Given the description of an element on the screen output the (x, y) to click on. 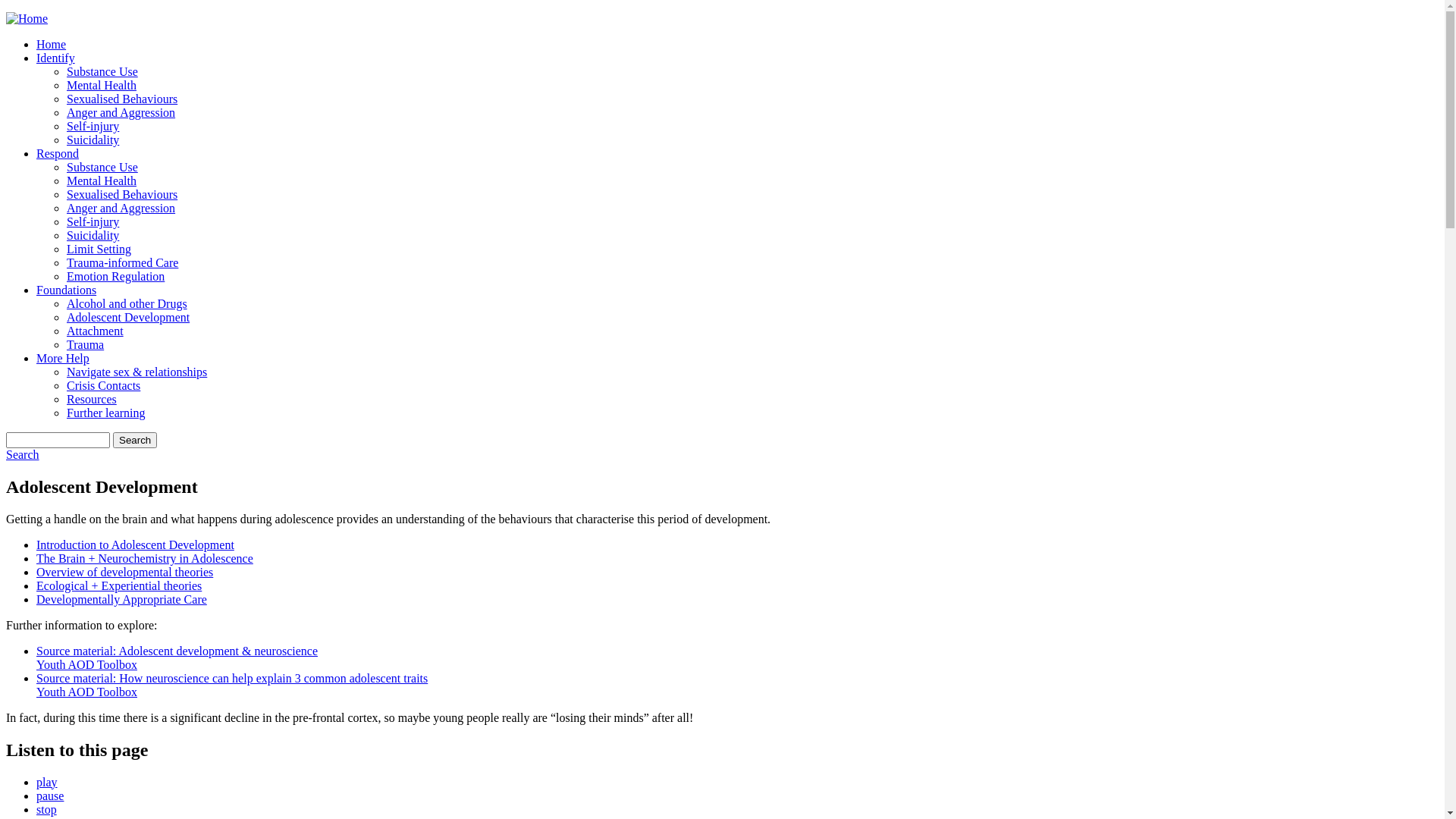
play Element type: text (46, 781)
Trauma-informed Care Element type: text (122, 262)
Identify Element type: text (55, 57)
Substance Use Element type: text (102, 71)
Ecological + Experiential theories Element type: text (118, 585)
Overview of developmental theories Element type: text (124, 571)
Adolescent Development Element type: text (127, 316)
Enter the terms you wish to search for. Element type: hover (57, 440)
The Brain + Neurochemistry in Adolescence Element type: text (144, 558)
pause Element type: text (49, 795)
Search Element type: text (22, 454)
Home Element type: text (50, 43)
Home Element type: hover (26, 18)
Navigate sex & relationships Element type: text (136, 371)
Anger and Aggression Element type: text (120, 112)
Trauma Element type: text (84, 344)
Attachment Element type: text (94, 330)
Self-injury Element type: text (92, 125)
Suicidality Element type: text (92, 139)
Emotion Regulation Element type: text (115, 275)
Foundations Element type: text (66, 289)
Mental Health Element type: text (101, 180)
Developmentally Appropriate Care Element type: text (121, 599)
Alcohol and other Drugs Element type: text (126, 303)
Anger and Aggression Element type: text (120, 207)
Further learning Element type: text (105, 412)
More Help Element type: text (62, 357)
Jump to navigation Element type: text (52, 12)
Search Element type: text (134, 440)
Respond Element type: text (57, 153)
Sexualised Behaviours Element type: text (121, 194)
Introduction to Adolescent Development Element type: text (135, 544)
Self-injury Element type: text (92, 221)
Sexualised Behaviours Element type: text (121, 98)
Substance Use Element type: text (102, 166)
Limit Setting Element type: text (98, 248)
Crisis Contacts Element type: text (103, 385)
Suicidality Element type: text (92, 235)
Mental Health Element type: text (101, 84)
stop Element type: text (46, 809)
Resources Element type: text (91, 398)
